Given the description of an element on the screen output the (x, y) to click on. 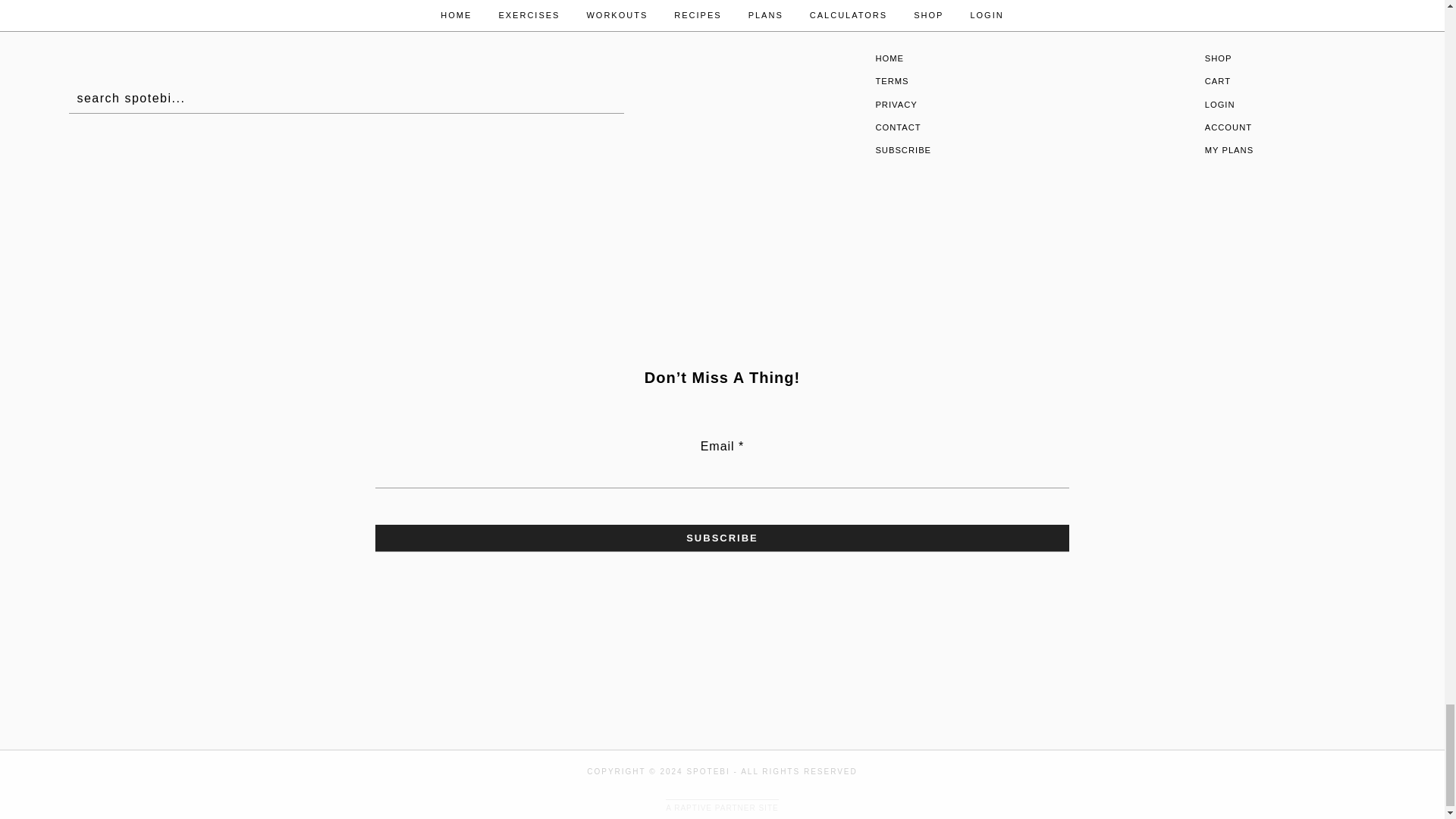
Subscribe (721, 538)
